Given the description of an element on the screen output the (x, y) to click on. 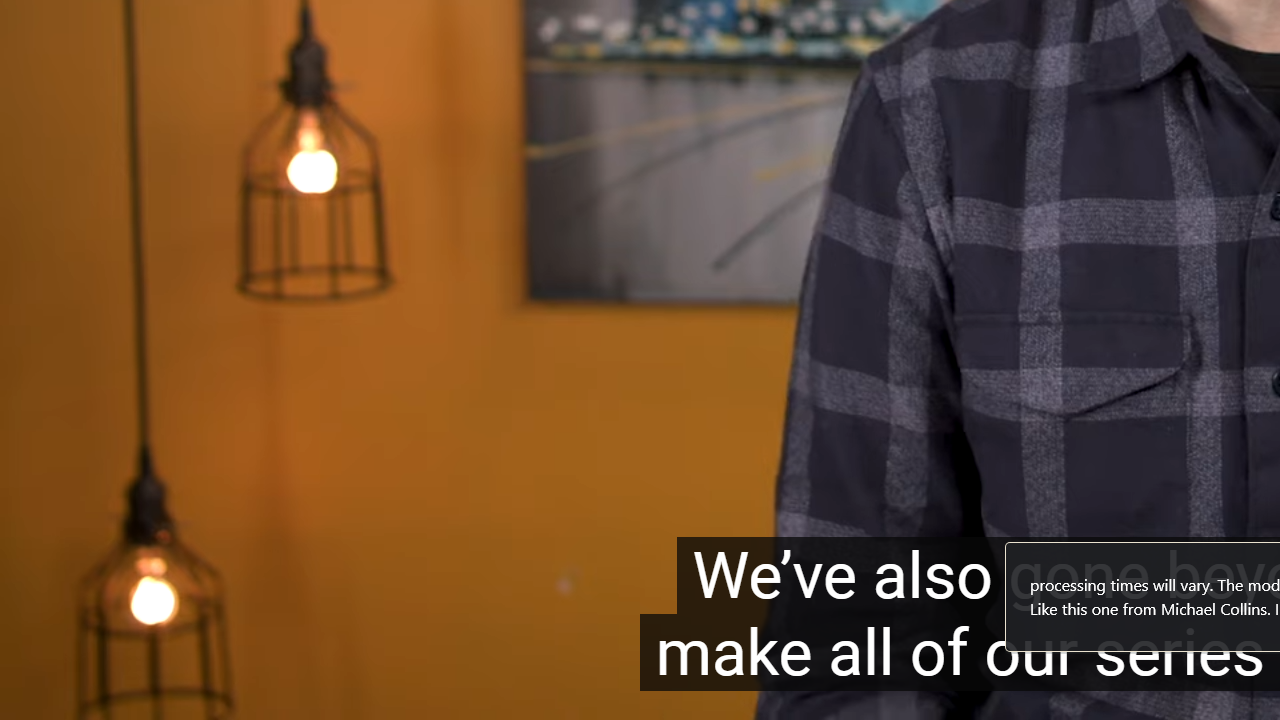
Pause (k) (58, 693)
Mute (m) (120, 693)
